Given the description of an element on the screen output the (x, y) to click on. 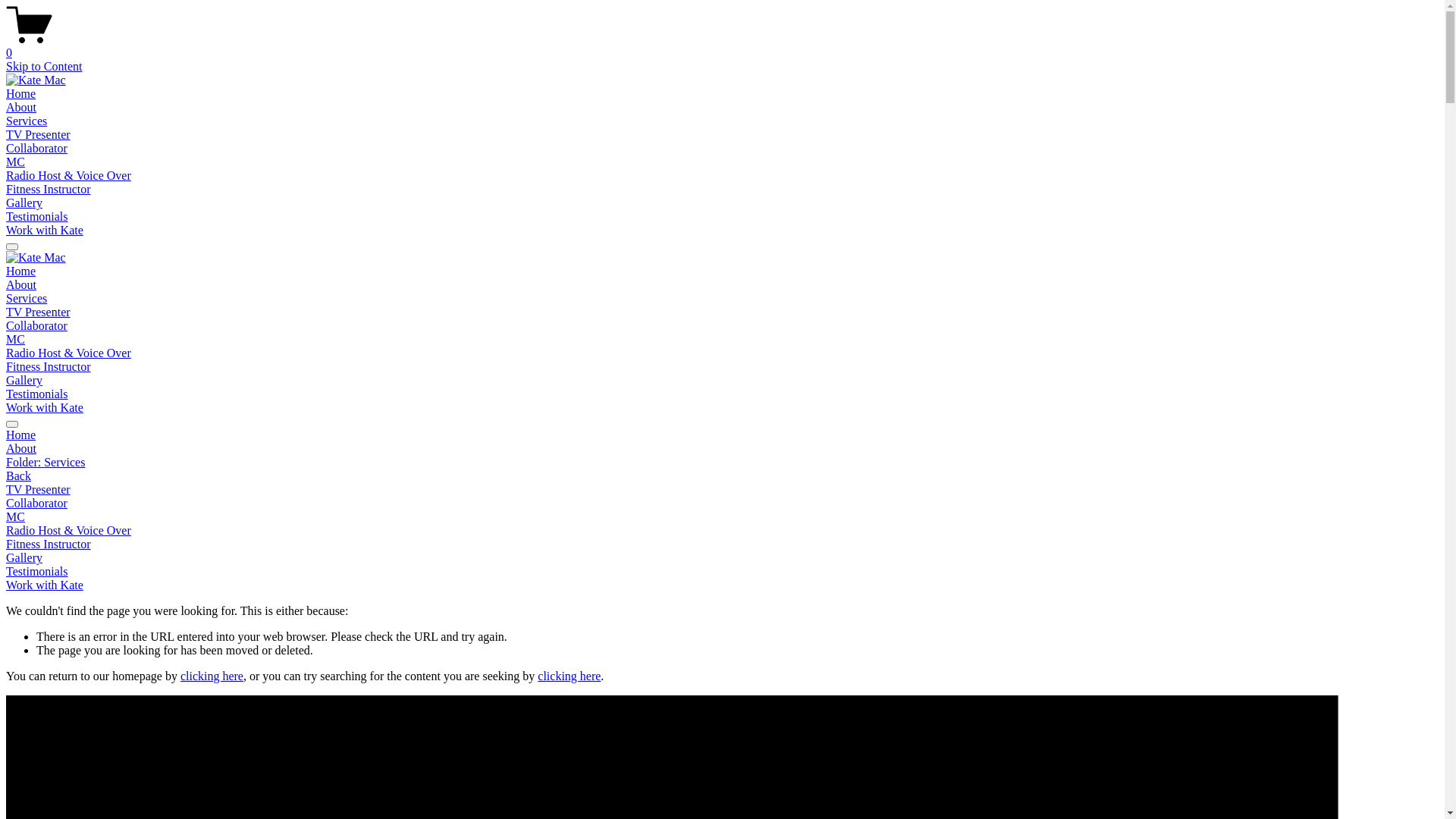
Services Element type: text (26, 297)
Radio Host & Voice Over Element type: text (68, 175)
About Element type: text (21, 284)
Collaborator Element type: text (36, 147)
Fitness Instructor Element type: text (48, 188)
Home Element type: text (722, 435)
Gallery Element type: text (722, 557)
Testimonials Element type: text (37, 216)
MC Element type: text (15, 338)
Testimonials Element type: text (37, 393)
Services Element type: text (26, 120)
Fitness Instructor Element type: text (48, 366)
MC Element type: text (722, 517)
Folder: Services Element type: text (722, 462)
About Element type: text (722, 448)
Work with Kate Element type: text (44, 584)
Work with Kate Element type: text (44, 229)
Back Element type: text (18, 475)
clicking here Element type: text (568, 675)
TV Presenter Element type: text (38, 311)
MC Element type: text (15, 161)
Gallery Element type: text (24, 379)
Collaborator Element type: text (36, 325)
Skip to Content Element type: text (43, 65)
Radio Host & Voice Over Element type: text (722, 530)
Collaborator Element type: text (722, 503)
About Element type: text (21, 106)
Gallery Element type: text (24, 202)
Work with Kate Element type: text (44, 407)
TV Presenter Element type: text (38, 134)
Testimonials Element type: text (722, 571)
clicking here Element type: text (211, 675)
Radio Host & Voice Over Element type: text (68, 352)
Fitness Instructor Element type: text (722, 544)
Home Element type: text (20, 270)
0 Element type: text (722, 45)
TV Presenter Element type: text (722, 489)
Home Element type: text (20, 93)
